Given the description of an element on the screen output the (x, y) to click on. 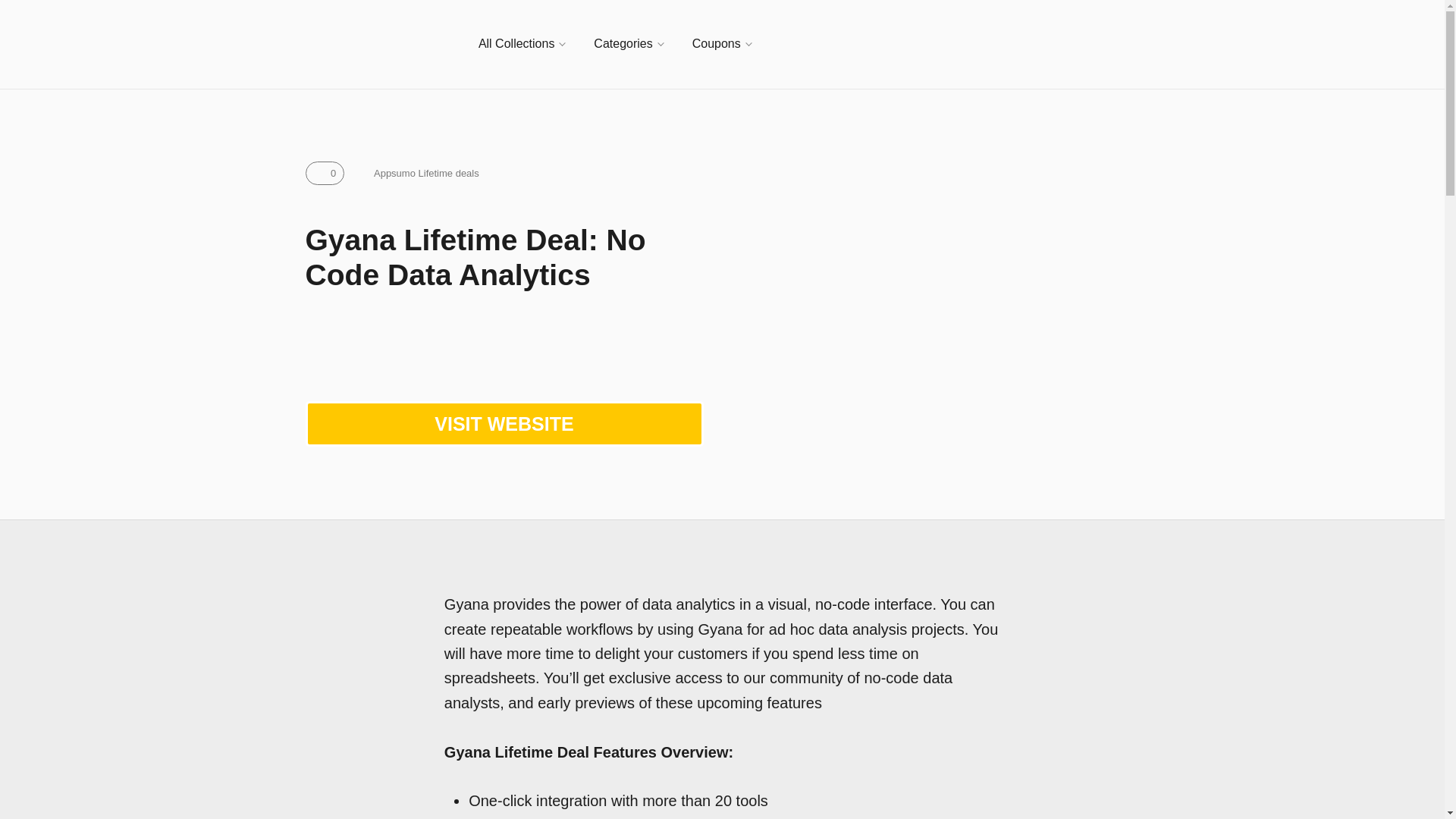
Upvote (323, 173)
Categories (628, 44)
Gyana Lifetime Deal: No Code Data Analytics (940, 334)
Search (1131, 43)
Coupons (722, 44)
Terms (417, 172)
All Collections (521, 44)
